Given the description of an element on the screen output the (x, y) to click on. 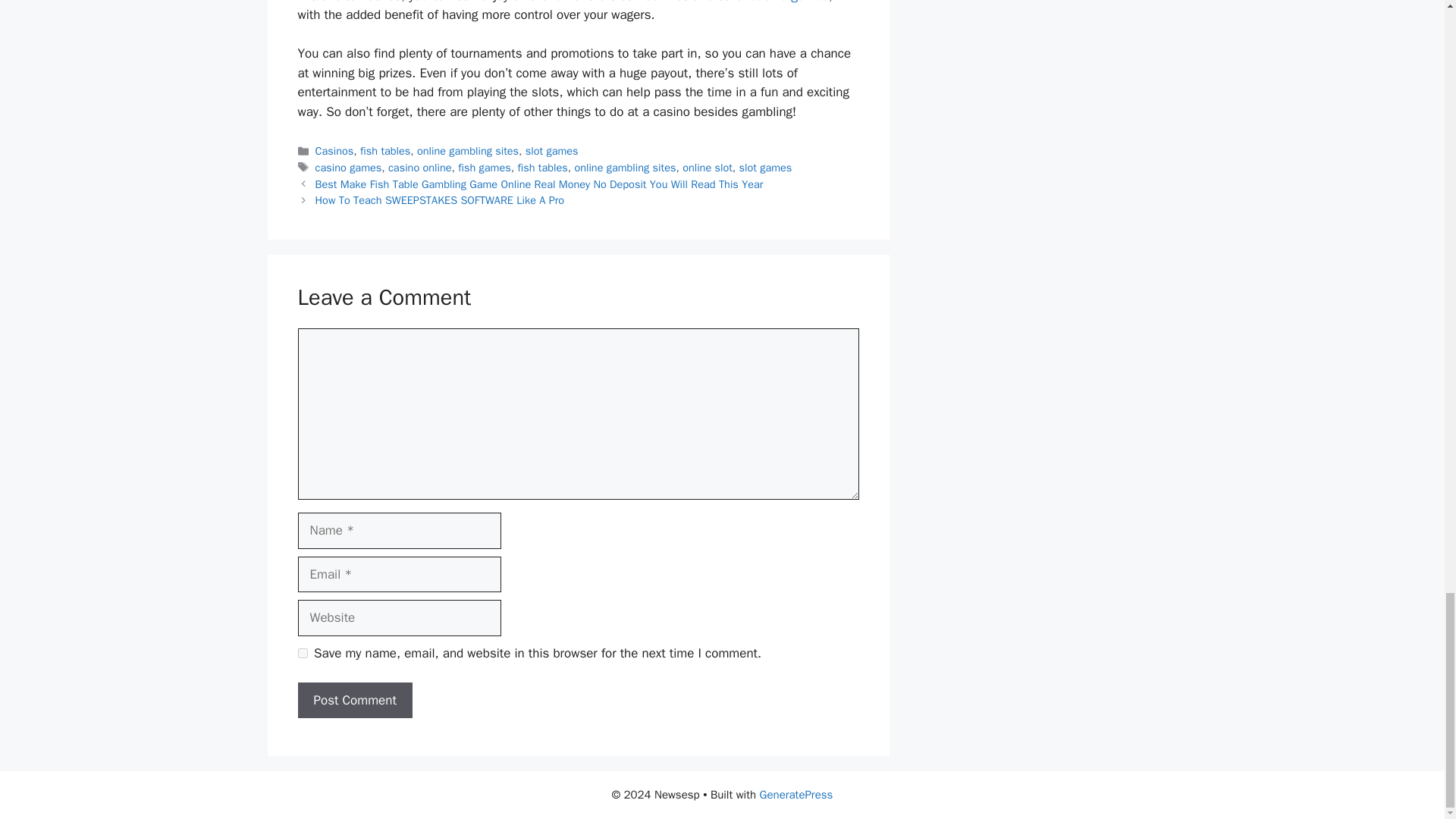
Next (439, 200)
casino games (789, 2)
fish tables (384, 151)
yes (302, 653)
How To Teach SWEEPSTAKES SOFTWARE Like A Pro (439, 200)
Post Comment (354, 700)
Casinos (334, 151)
Previous (538, 183)
casino online (419, 167)
online gambling sites (467, 151)
GeneratePress (796, 794)
online gambling sites (624, 167)
fish tables (541, 167)
slot games (765, 167)
